Given the description of an element on the screen output the (x, y) to click on. 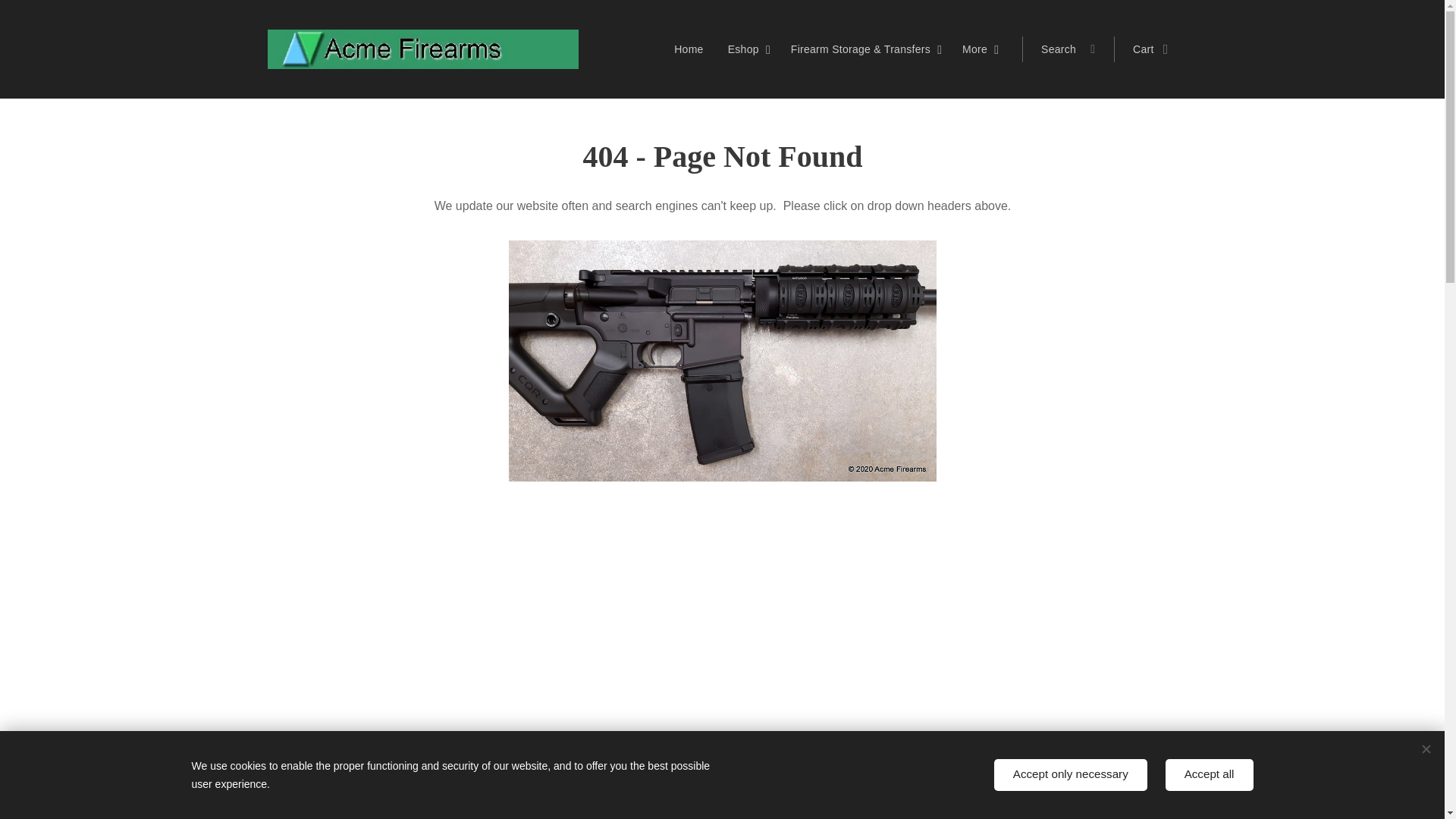
Cart (1144, 48)
Eshop (747, 48)
Home (691, 48)
